Given the description of an element on the screen output the (x, y) to click on. 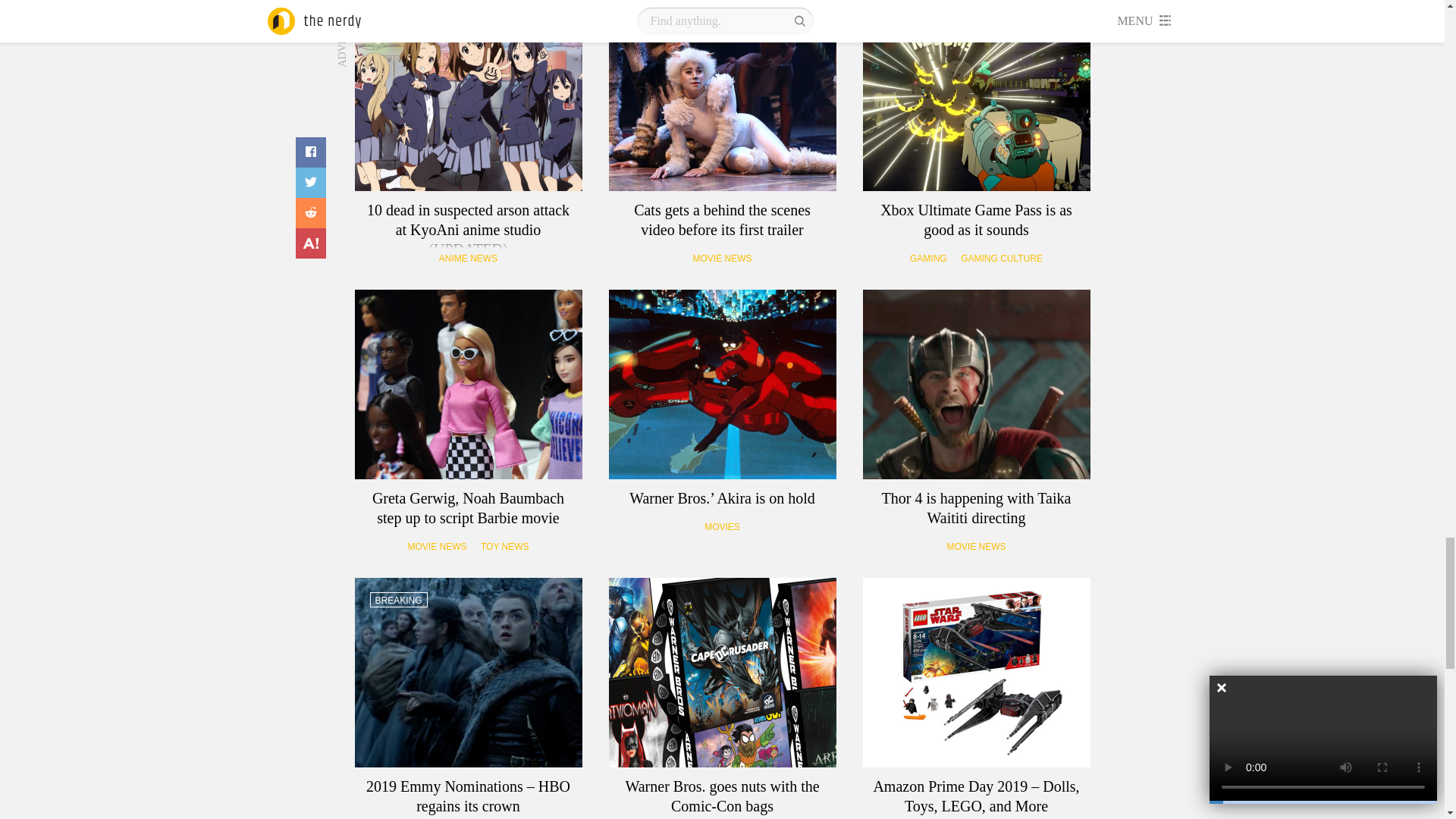
Greta Gerwig, Noah Baumbach step up to script Barbie movie (468, 384)
Thor 4 is happening with Taika Waititi directing (976, 384)
Xbox Ultimate Game Pass is as good as it sounds (976, 95)
Cats gets a behind the scenes video before its first trailer (721, 95)
